Given the description of an element on the screen output the (x, y) to click on. 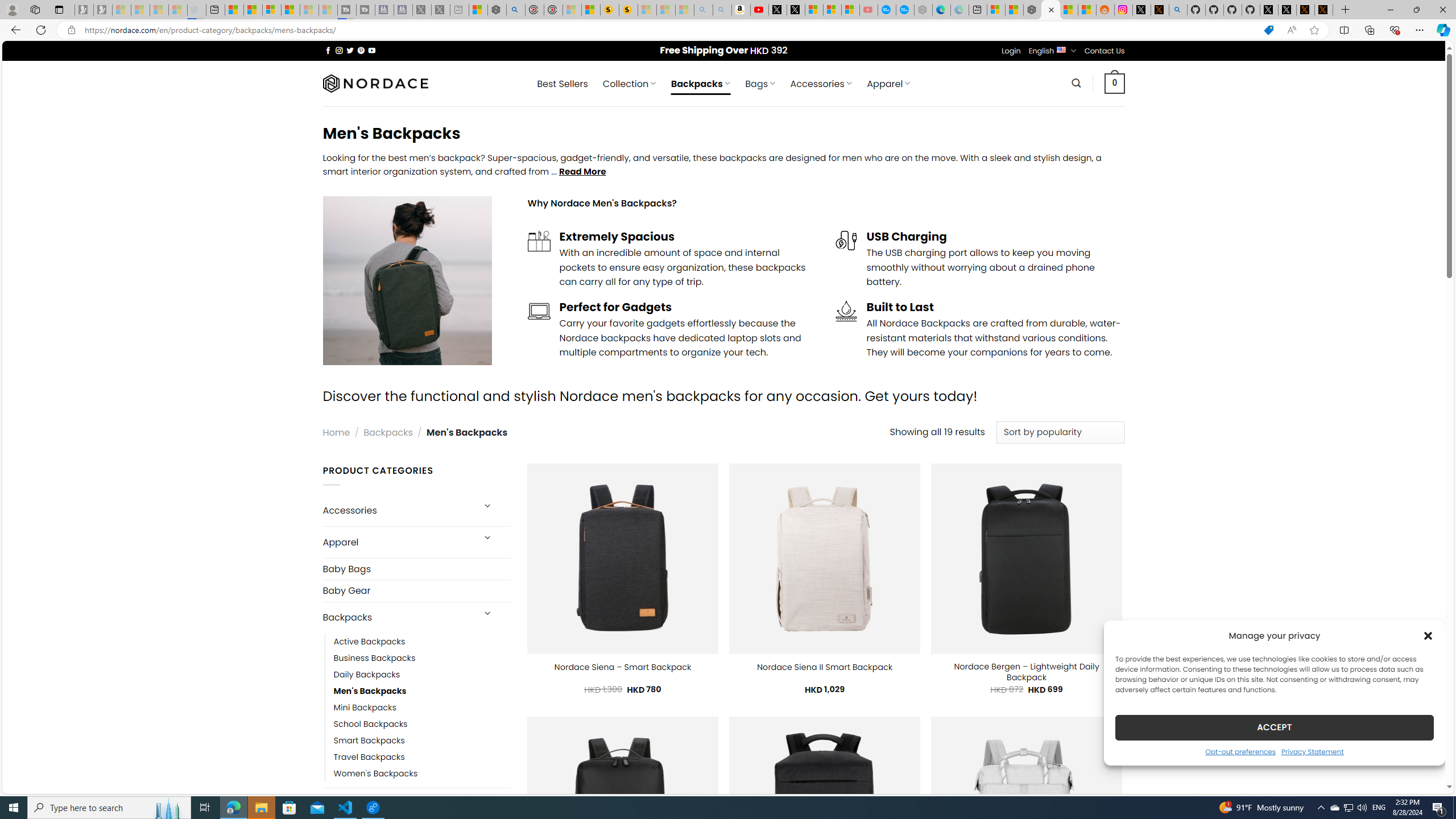
Follow on Twitter (349, 49)
Baby Gear (416, 590)
Microsoft Start - Sleeping (309, 9)
Smart Backpacks (422, 740)
This site has coupons! Shopping in Microsoft Edge (1268, 29)
Gloom - YouTube - Sleeping (868, 9)
Mini Backpacks (422, 706)
Opt-out preferences (1240, 750)
 Best Sellers (562, 83)
